Given the description of an element on the screen output the (x, y) to click on. 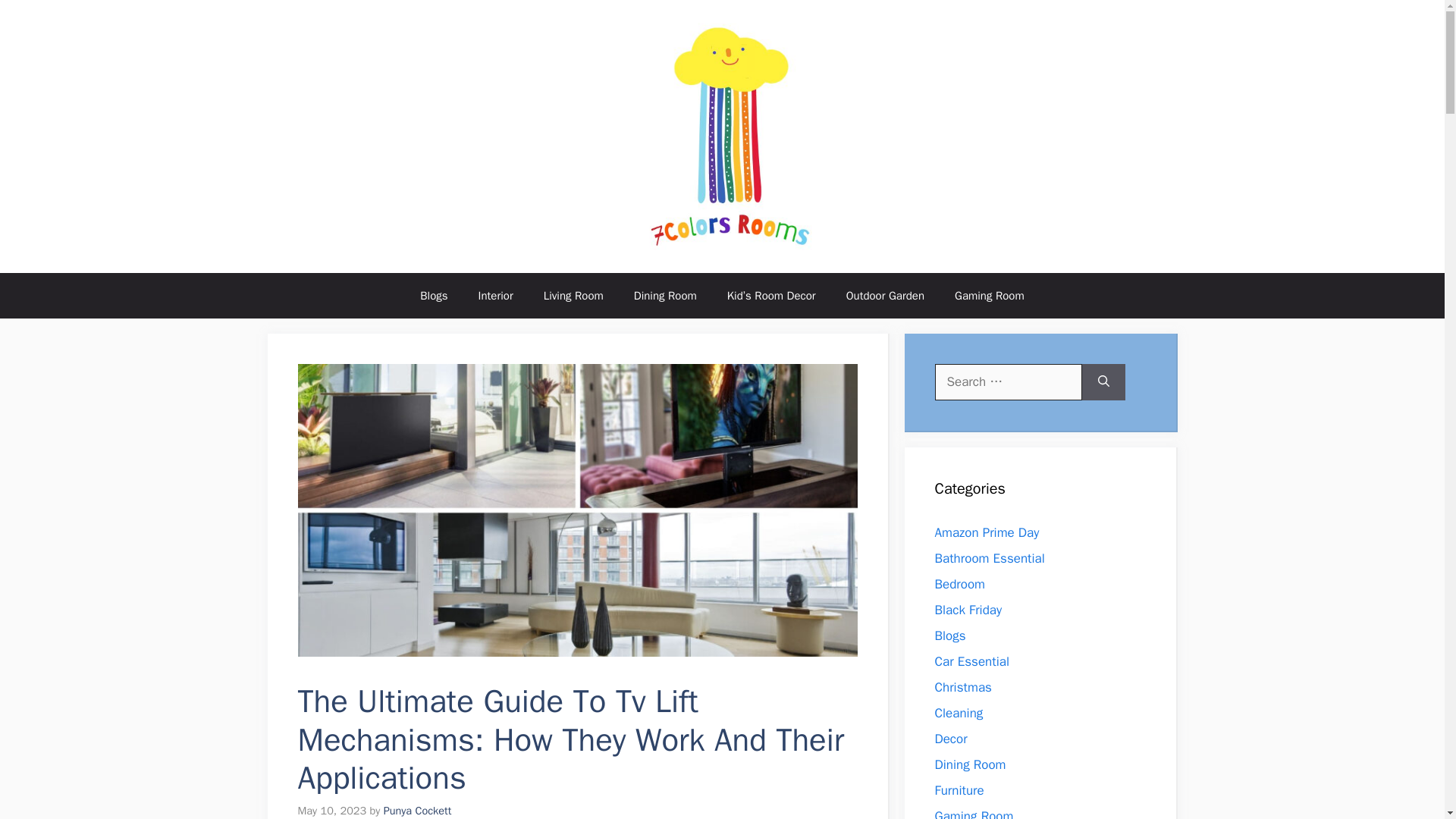
Punya Cockett (417, 810)
Dining Room (664, 295)
Outdoor Garden (885, 295)
Search for: (1007, 381)
View all posts by Punya Cockett (417, 810)
Blogs (433, 295)
Interior (495, 295)
Living Room (573, 295)
Gaming Room (989, 295)
